Given the description of an element on the screen output the (x, y) to click on. 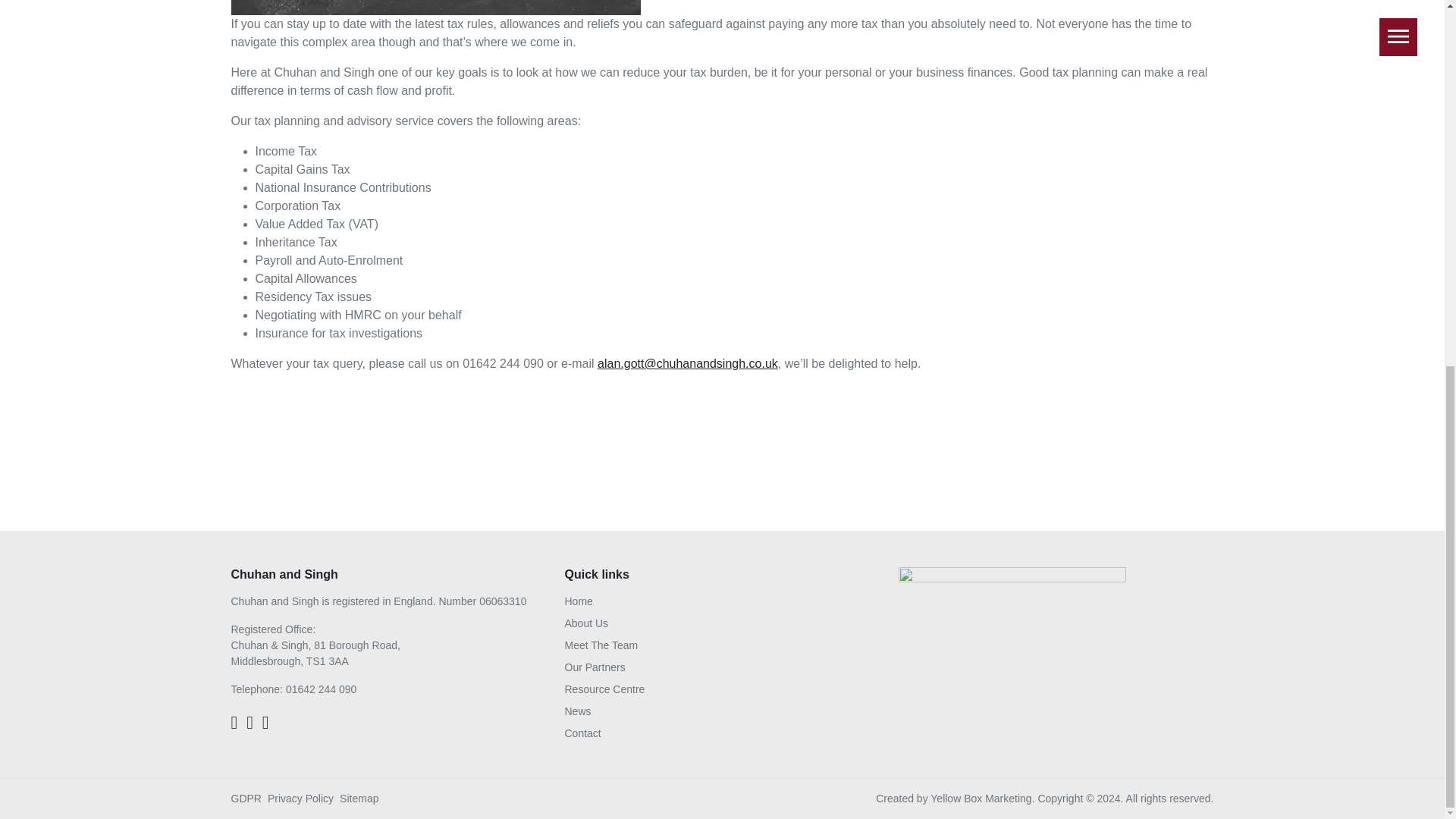
Sitemap (358, 798)
Resource Centre (604, 689)
Contact (581, 733)
Meet The Team (600, 645)
News (577, 711)
GDPR (245, 798)
Home (578, 601)
Our Partners (594, 666)
Privacy Policy (300, 798)
Yellow Box Marketing (980, 798)
About Us (586, 623)
